Given the description of an element on the screen output the (x, y) to click on. 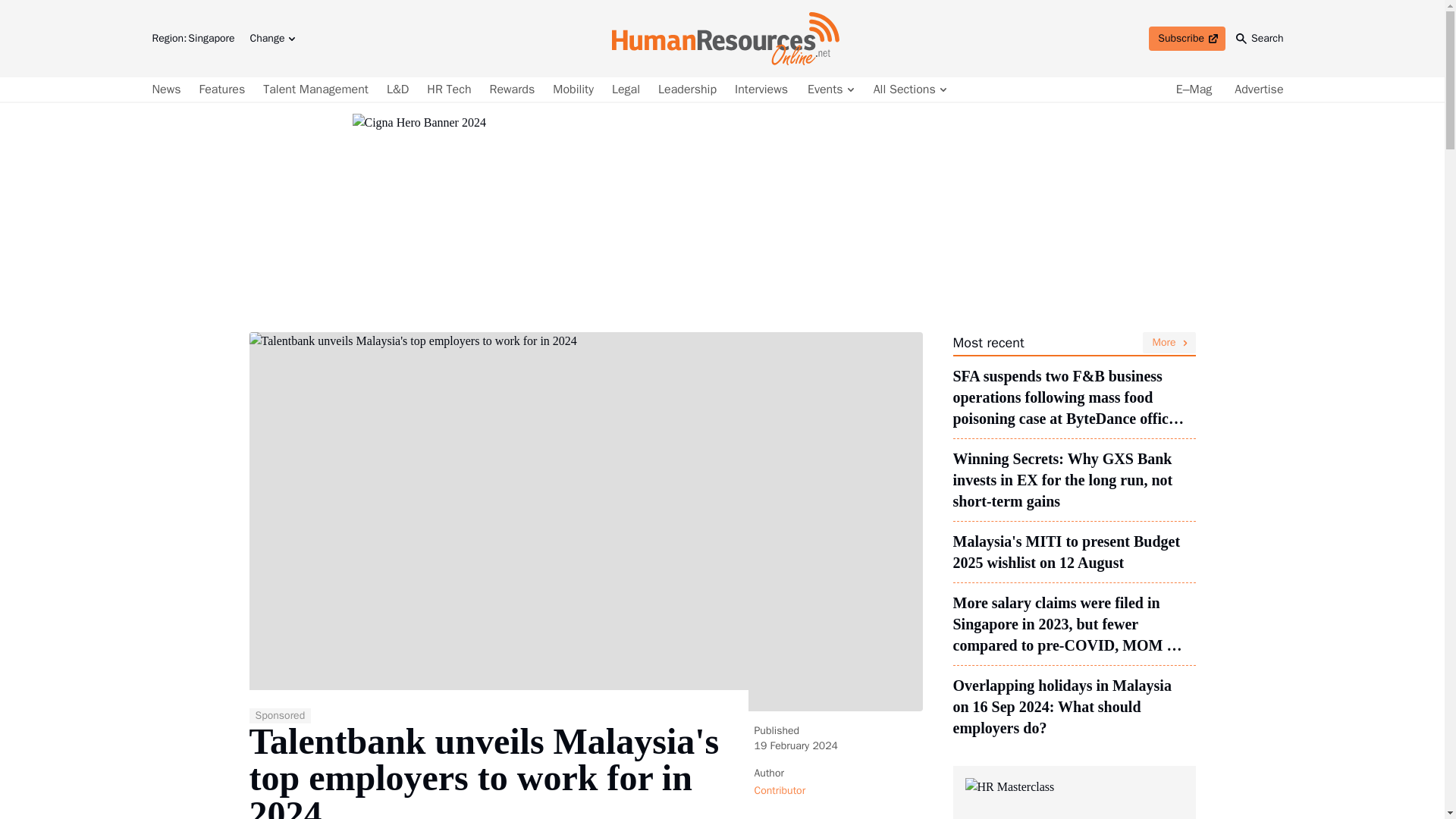
Talent Management (315, 89)
News (167, 89)
Legal (626, 89)
Interviews (761, 89)
Features (222, 89)
Leadership (686, 89)
All Sections (908, 89)
HR Tech (449, 89)
Events (830, 89)
Mobility (1186, 38)
Rewards (573, 89)
Change (512, 89)
Cigna Hero Banner 2024 (271, 38)
